Given the description of an element on the screen output the (x, y) to click on. 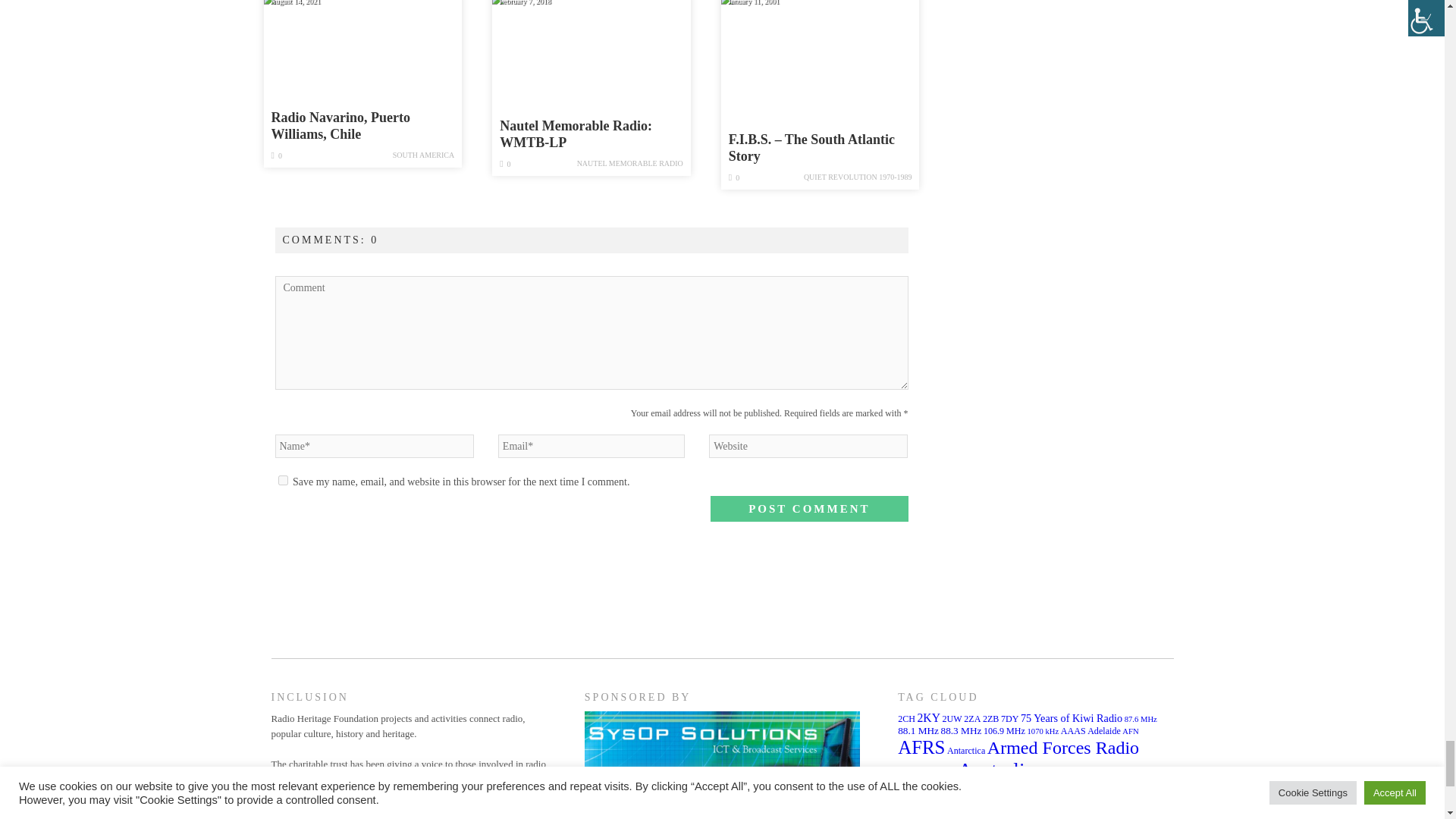
yes (282, 480)
Post Comment (808, 508)
